Given the description of an element on the screen output the (x, y) to click on. 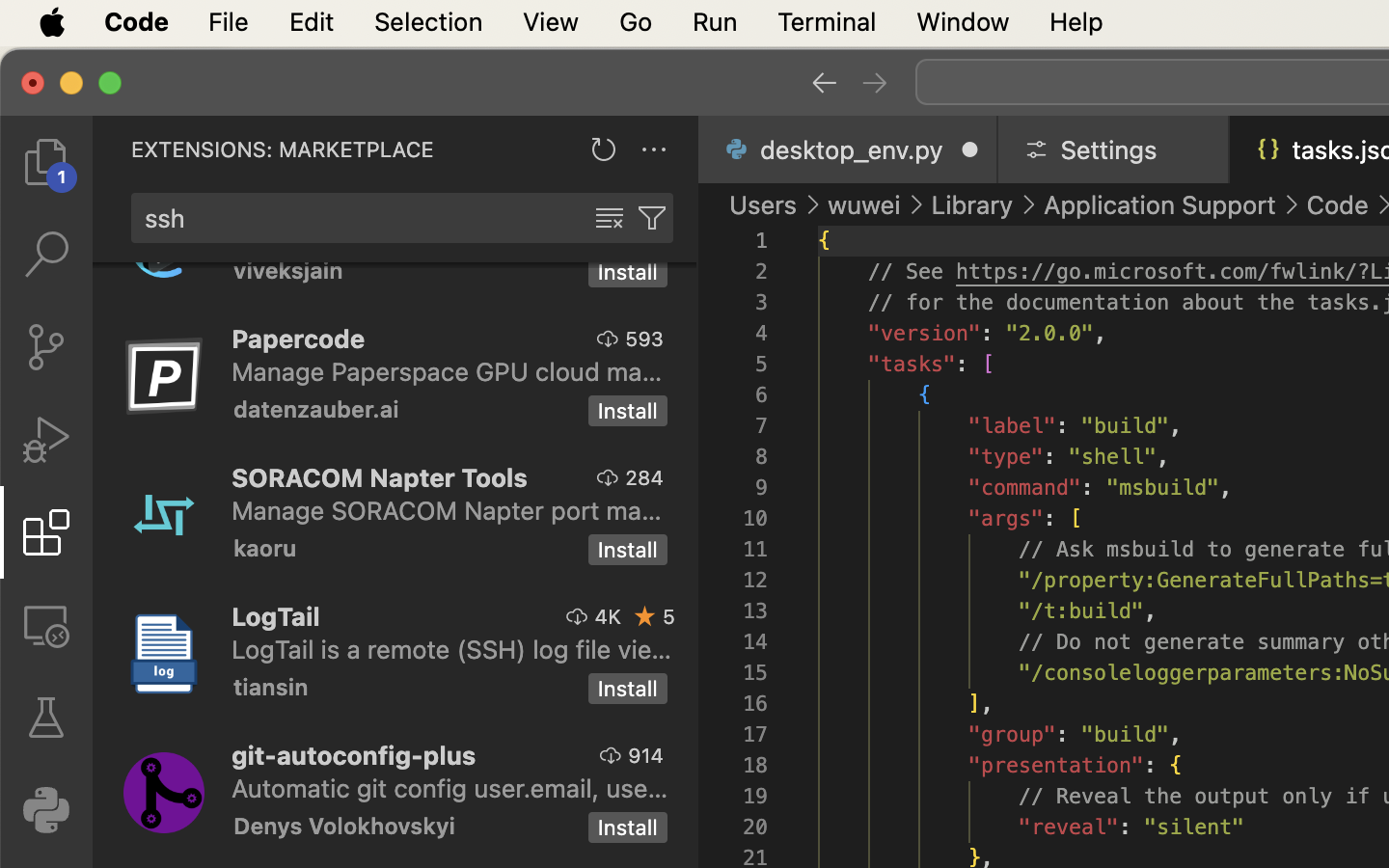
 Element type: AXGroup (46, 624)
 Element type: AXStaticText (651, 217)
Library Element type: AXGroup (972, 204)
Manage SORACOM Napter port mappings from Visual Studio Code. Element type: AXStaticText (446, 509)
tiansin Element type: AXStaticText (270, 686)
